Given the description of an element on the screen output the (x, y) to click on. 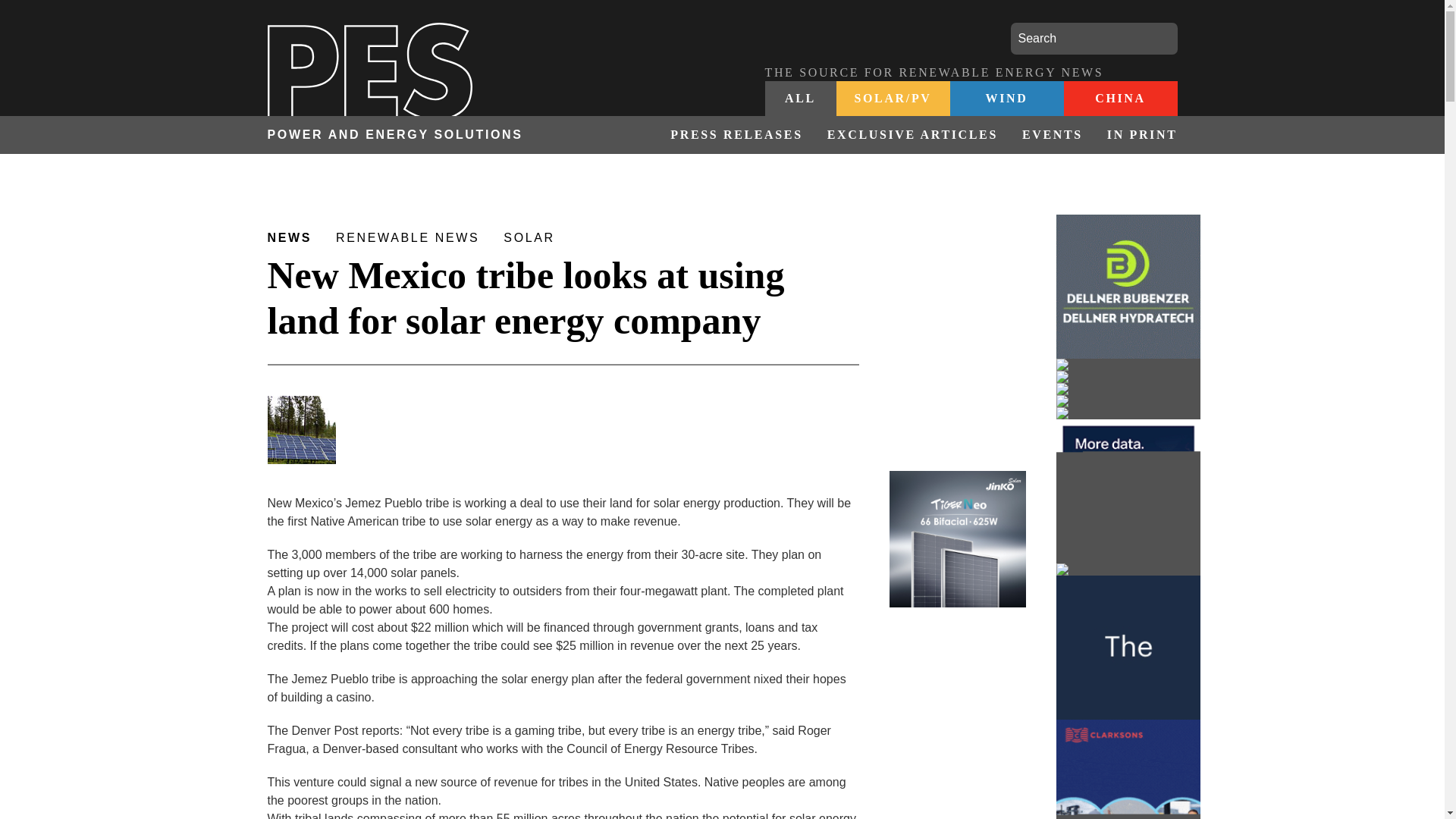
IN PRINT (1135, 134)
WIND (1005, 98)
PRESS RELEASES (735, 134)
EVENTS (1052, 134)
CHINA (1119, 98)
EXCLUSIVE ARTICLES (912, 134)
Search for: (1093, 38)
ALL (799, 98)
